Given the description of an element on the screen output the (x, y) to click on. 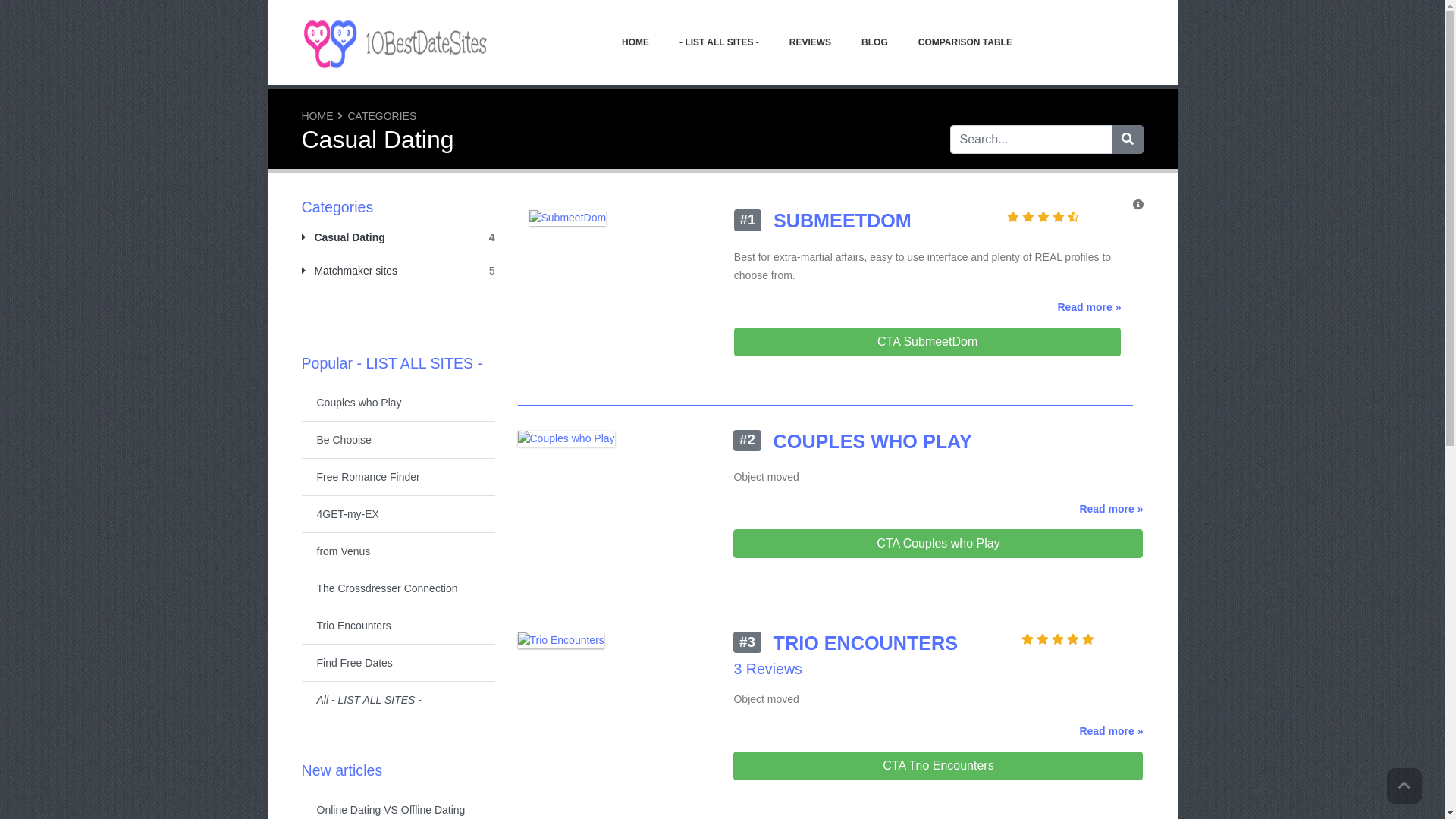
Matchmaker sites
5 Element type: text (349, 270)
All - LIST ALL SITES - Element type: text (398, 699)
#2
COUPLES WHO PLAY Element type: text (872, 440)
4GET-my-EX Element type: text (398, 514)
Go to top Element type: hover (1403, 785)
BLOG Element type: text (874, 41)
The Crossdresser Connection Element type: text (398, 588)
HOME Element type: text (317, 115)
CTA SubmeetDom Element type: text (927, 341)
Be Chooise Element type: text (398, 439)
CTA Trio Encounters Element type: text (937, 765)
Free Romance Finder Element type: text (398, 476)
- LIST ALL SITES - Element type: text (719, 41)
COMPARISON TABLE Element type: text (965, 41)
Casual Dating
4 Element type: text (343, 237)
HOME Element type: text (635, 41)
Find Free Dates Element type: text (398, 662)
#1
SUBMEETDOM Element type: text (842, 220)
#3
TRIO ENCOUNTERS Element type: text (865, 642)
CATEGORIES Element type: text (381, 115)
Couples who Play Element type: text (398, 402)
Rating: 5.0 Element type: hover (1081, 639)
CTA Couples who Play Element type: text (937, 543)
from Venus Element type: text (398, 551)
Trio Encounters Element type: text (398, 625)
10bestdatesites.com Element type: hover (396, 42)
3 Reviews Element type: text (767, 668)
Rating: 4.3 Element type: hover (1063, 217)
REVIEWS Element type: text (810, 41)
